Given the description of an element on the screen output the (x, y) to click on. 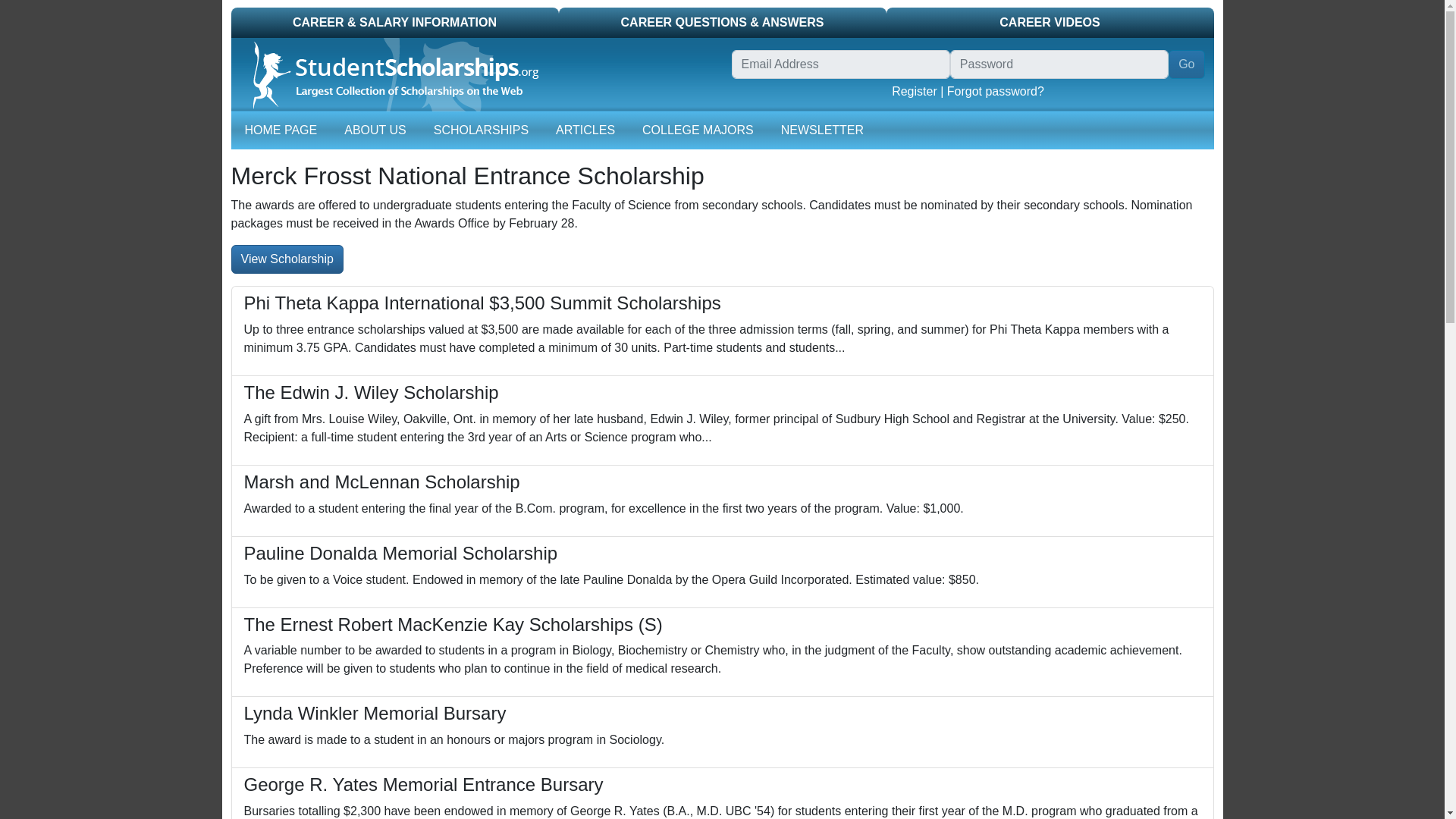
StudentScholarships (388, 74)
Go (1186, 63)
CAREER VIDEOS (1048, 22)
ABOUT US (374, 130)
HOME PAGE (280, 130)
Go (1186, 63)
Forgot password? (995, 91)
Student Scholarships (476, 74)
View Scholarship (286, 258)
